Given the description of an element on the screen output the (x, y) to click on. 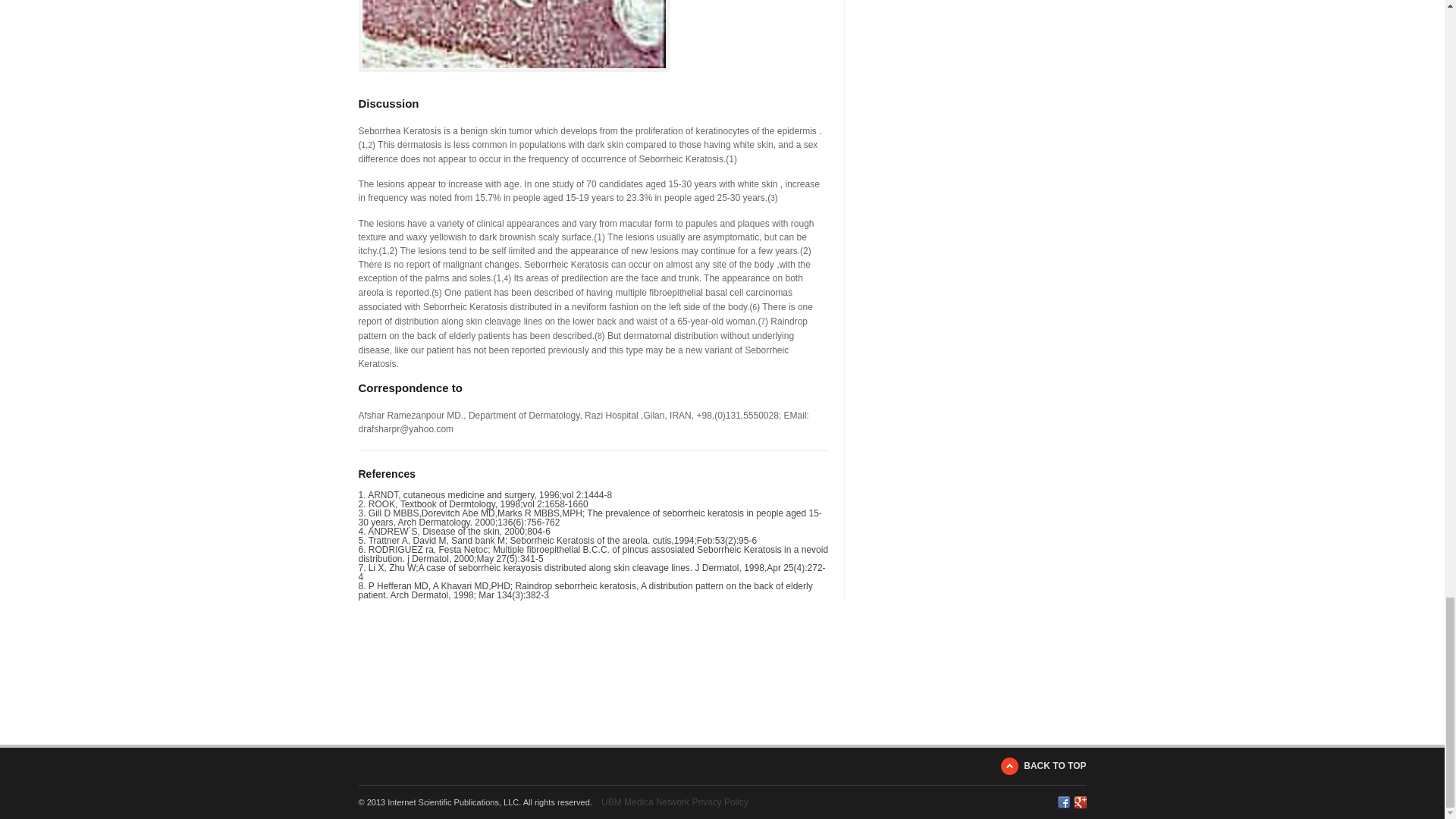
Google Plus (1080, 802)
BACK TO TOP (1043, 765)
Facebook (1062, 802)
